Given the description of an element on the screen output the (x, y) to click on. 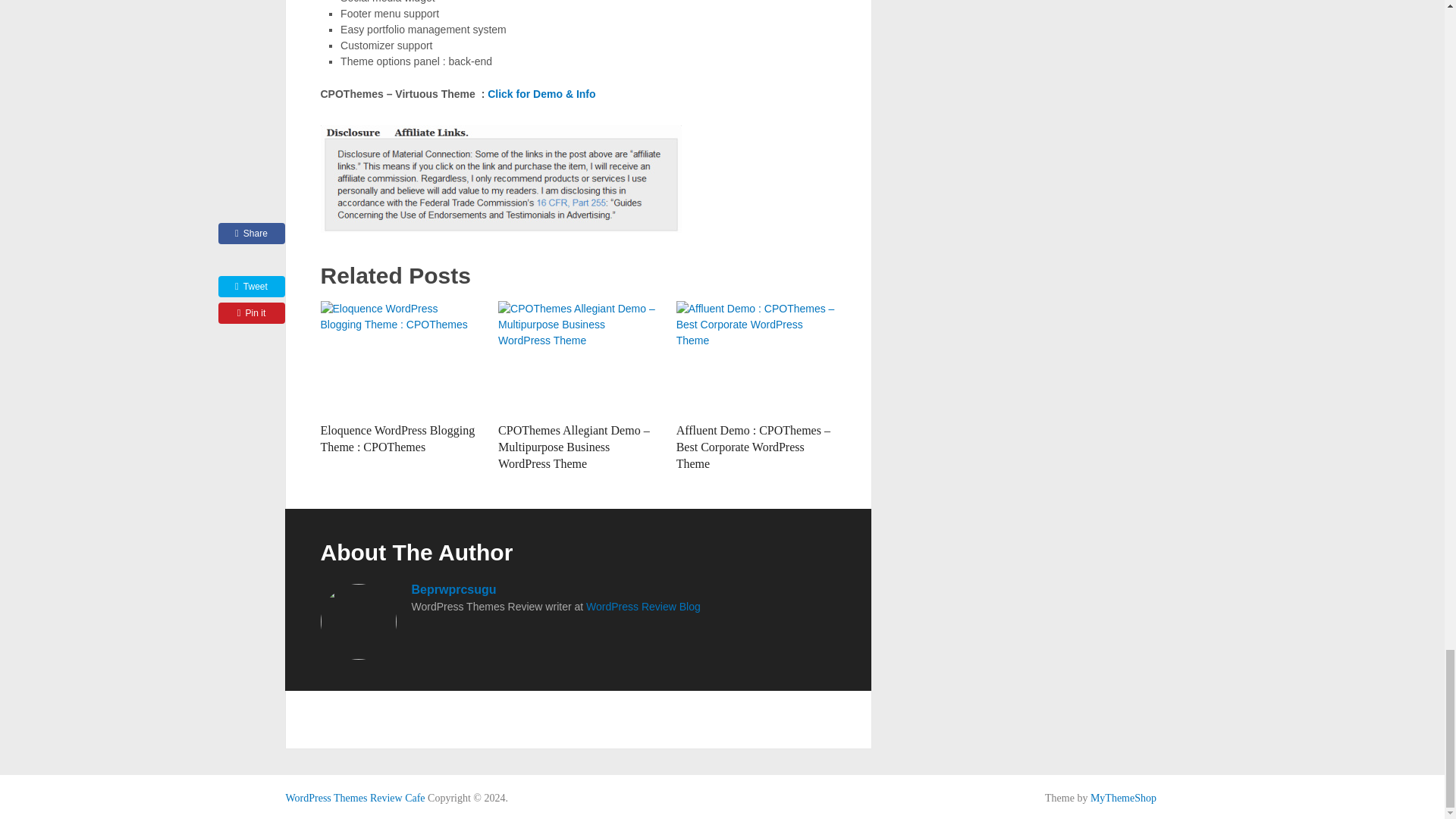
Eloquence WordPress Blogging Theme : CPOThemes (400, 357)
Eloquence WordPress Blogging Theme : CPOThemes (397, 438)
